Given the description of an element on the screen output the (x, y) to click on. 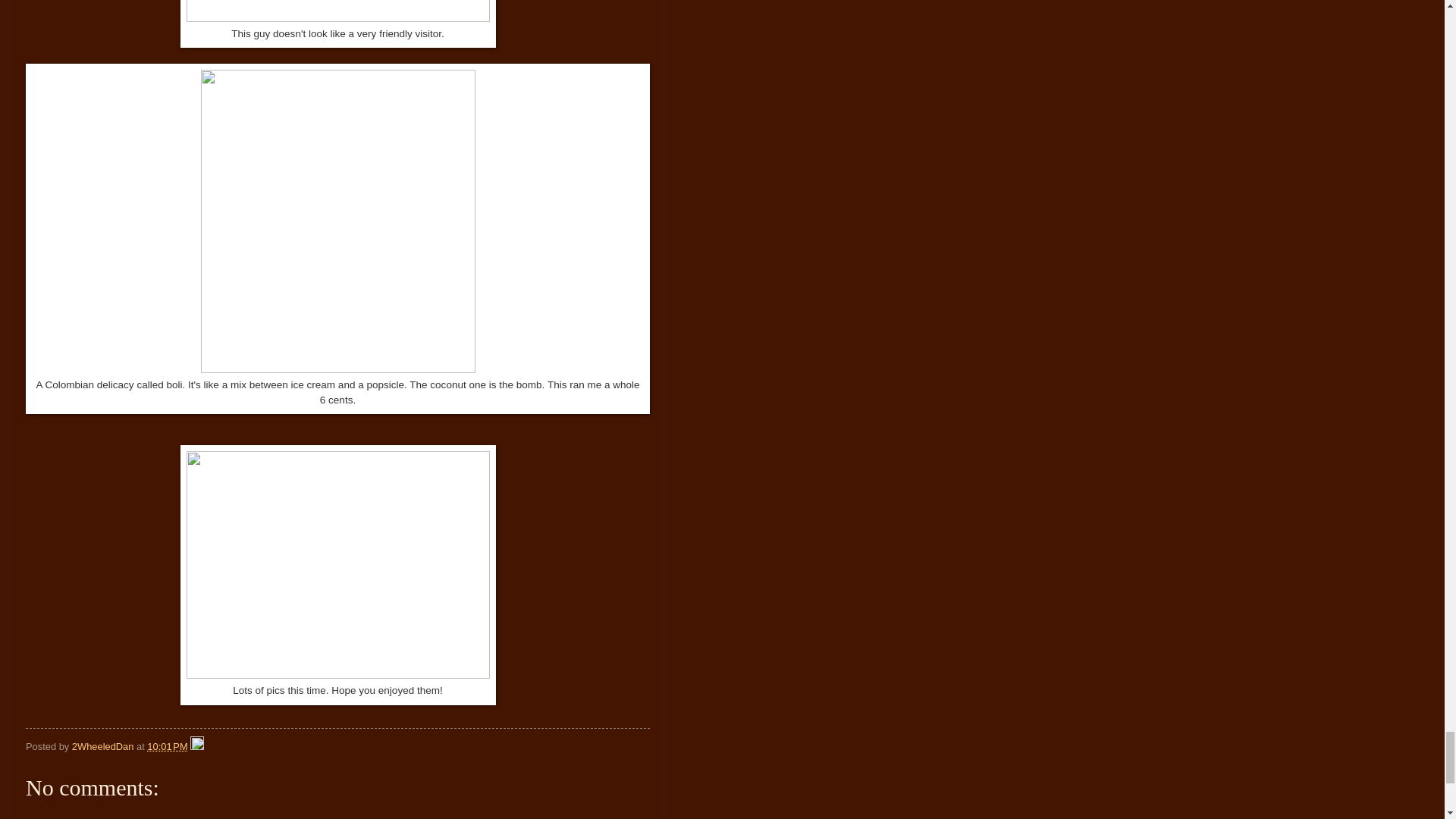
permanent link (167, 746)
Edit Post (196, 746)
author profile (103, 746)
